Given the description of an element on the screen output the (x, y) to click on. 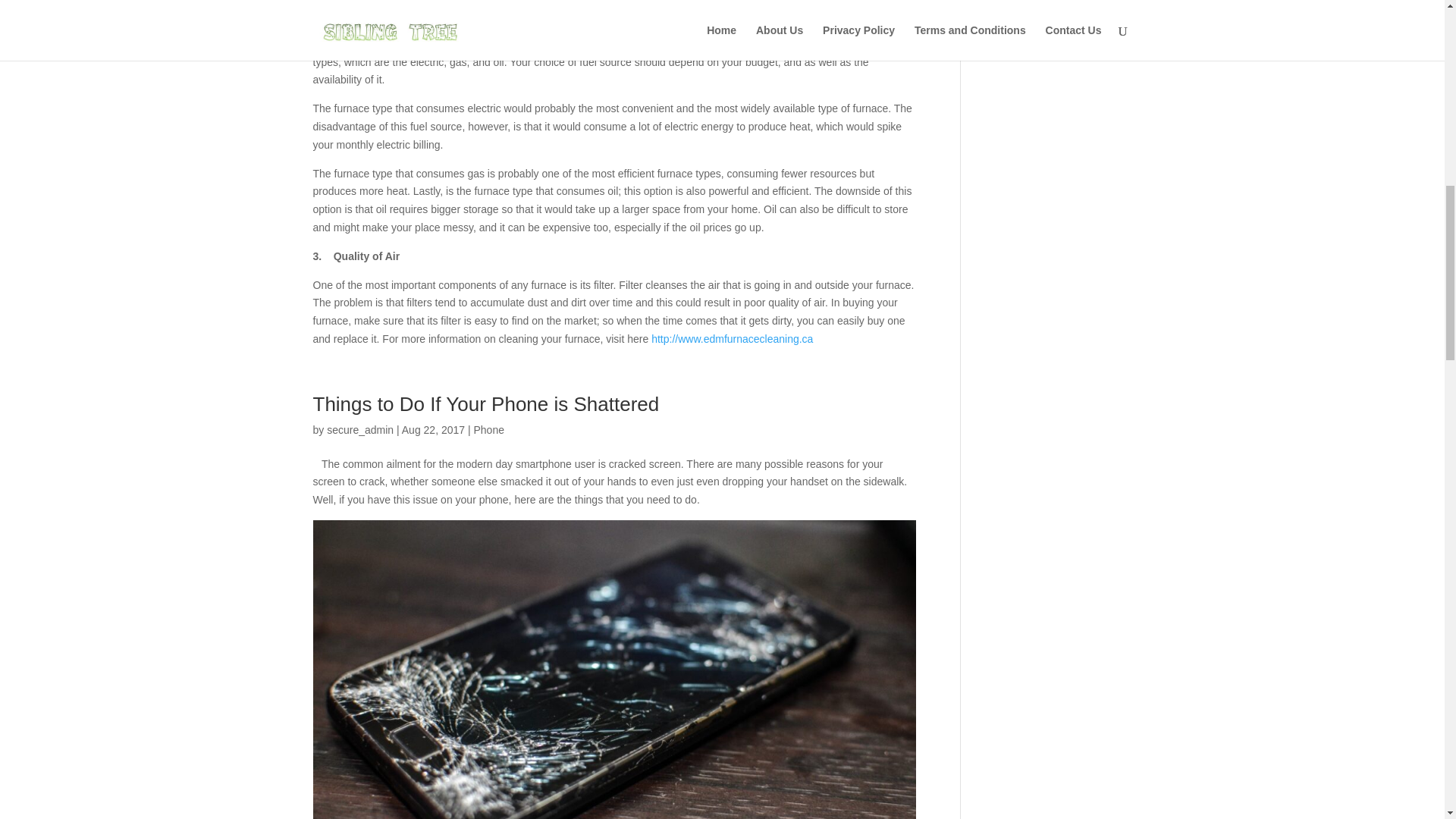
Phone (488, 429)
Things to Do If Your Phone is Shattered (486, 404)
